Given the description of an element on the screen output the (x, y) to click on. 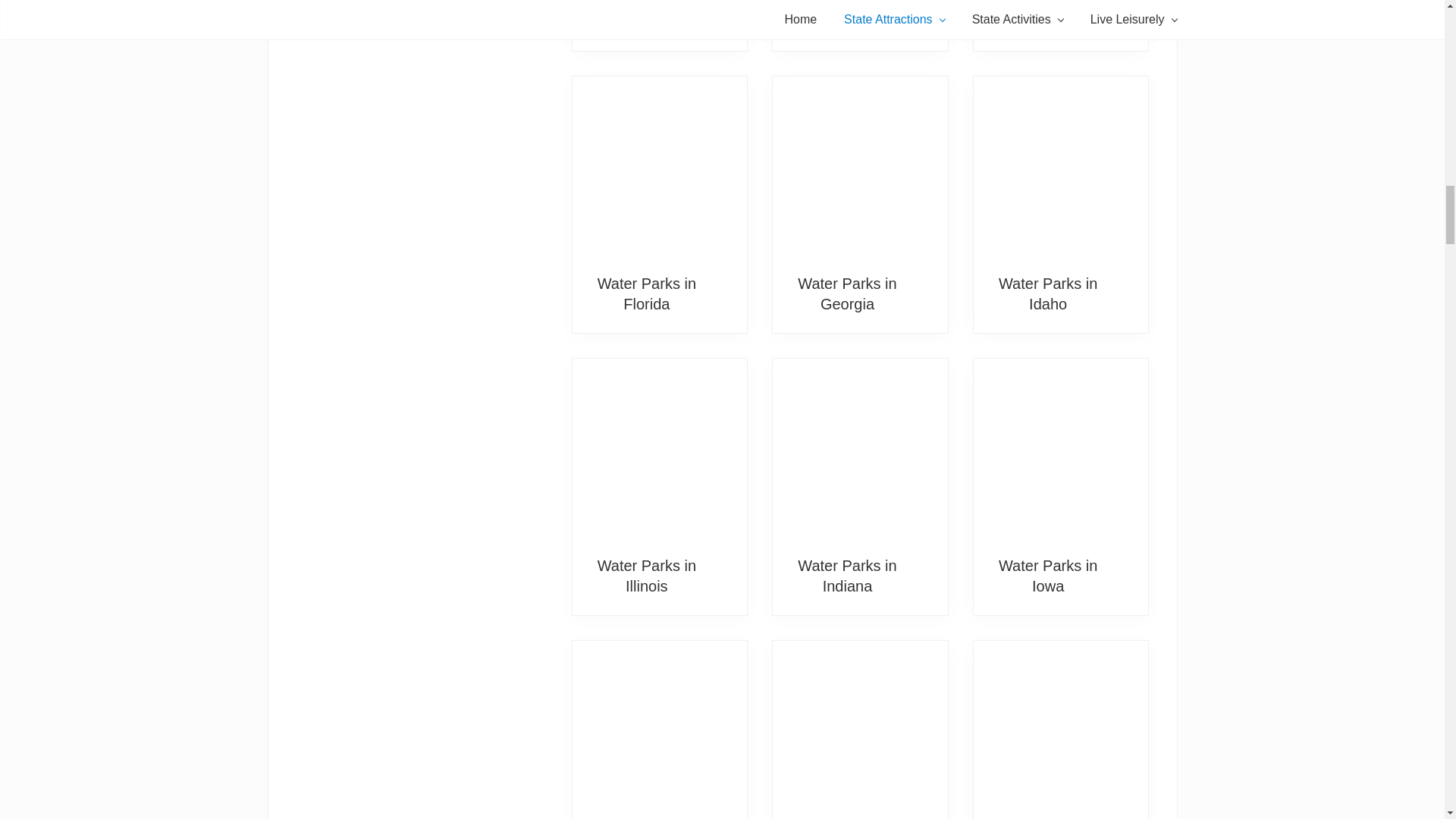
Water Parks in Florida (660, 168)
Water Parks in Connecticut (1047, 15)
Water Parks in California (645, 15)
Water Parks in Florida (645, 293)
Water Parks in Colorado (846, 15)
Water Parks in Georgia (860, 168)
